Given the description of an element on the screen output the (x, y) to click on. 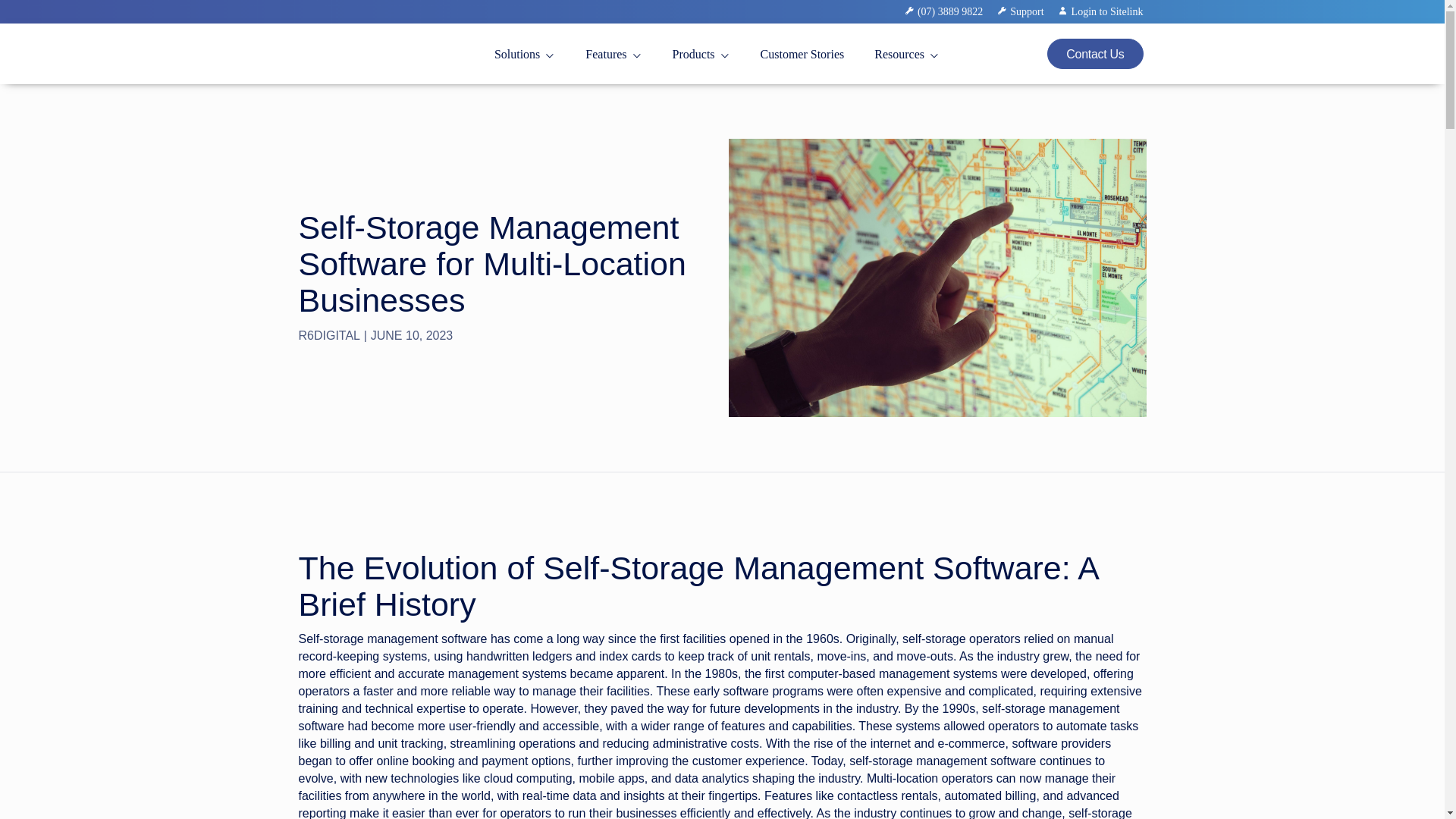
Features (613, 54)
Support (1027, 11)
Solutions (524, 54)
Customer Stories (802, 54)
Products (701, 54)
SiteLink (323, 77)
Resources (907, 54)
Login to Sitelink (1100, 11)
Contact Us (1094, 53)
